Given the description of an element on the screen output the (x, y) to click on. 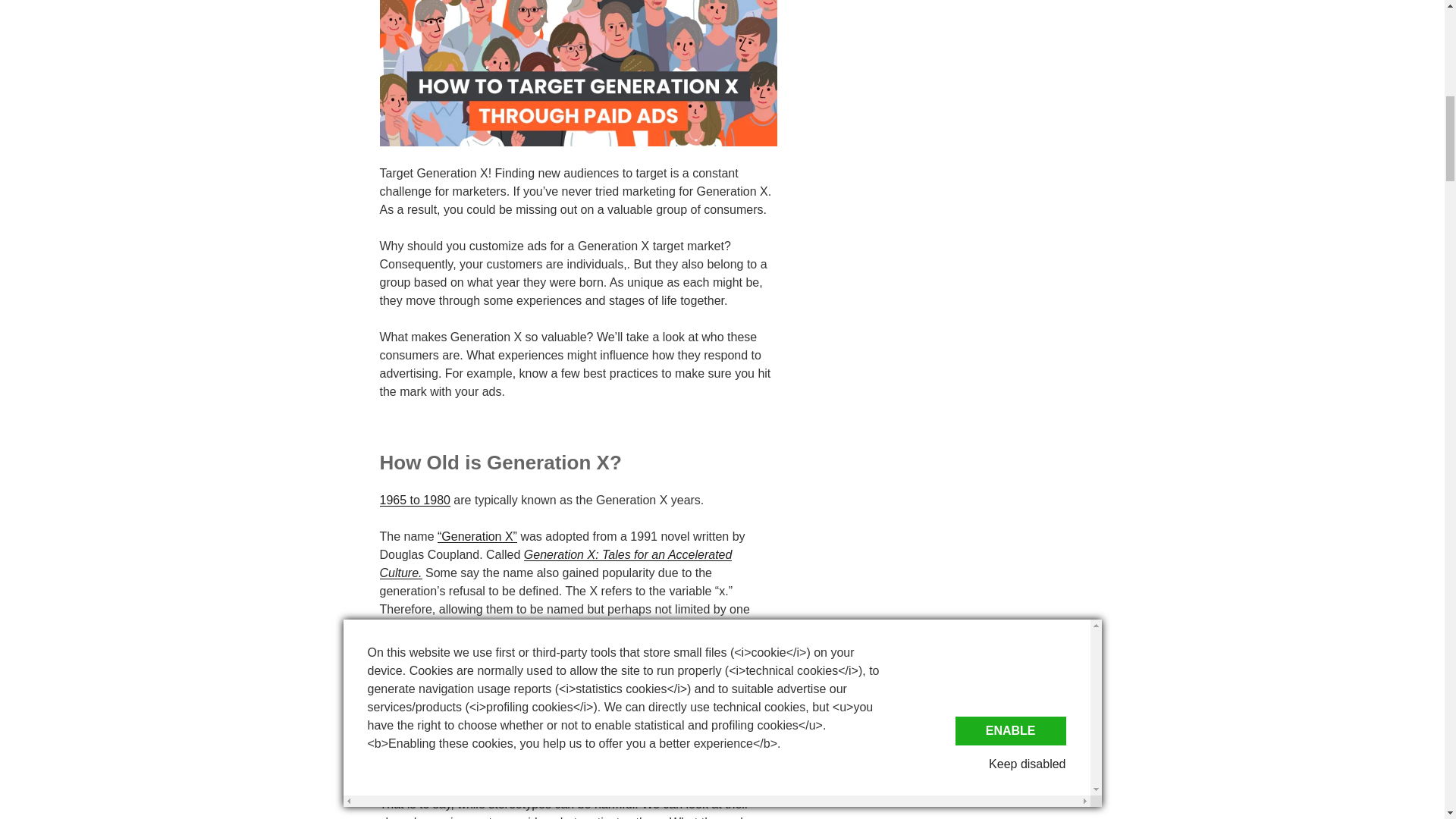
1965 to 1980 (413, 499)
